Given the description of an element on the screen output the (x, y) to click on. 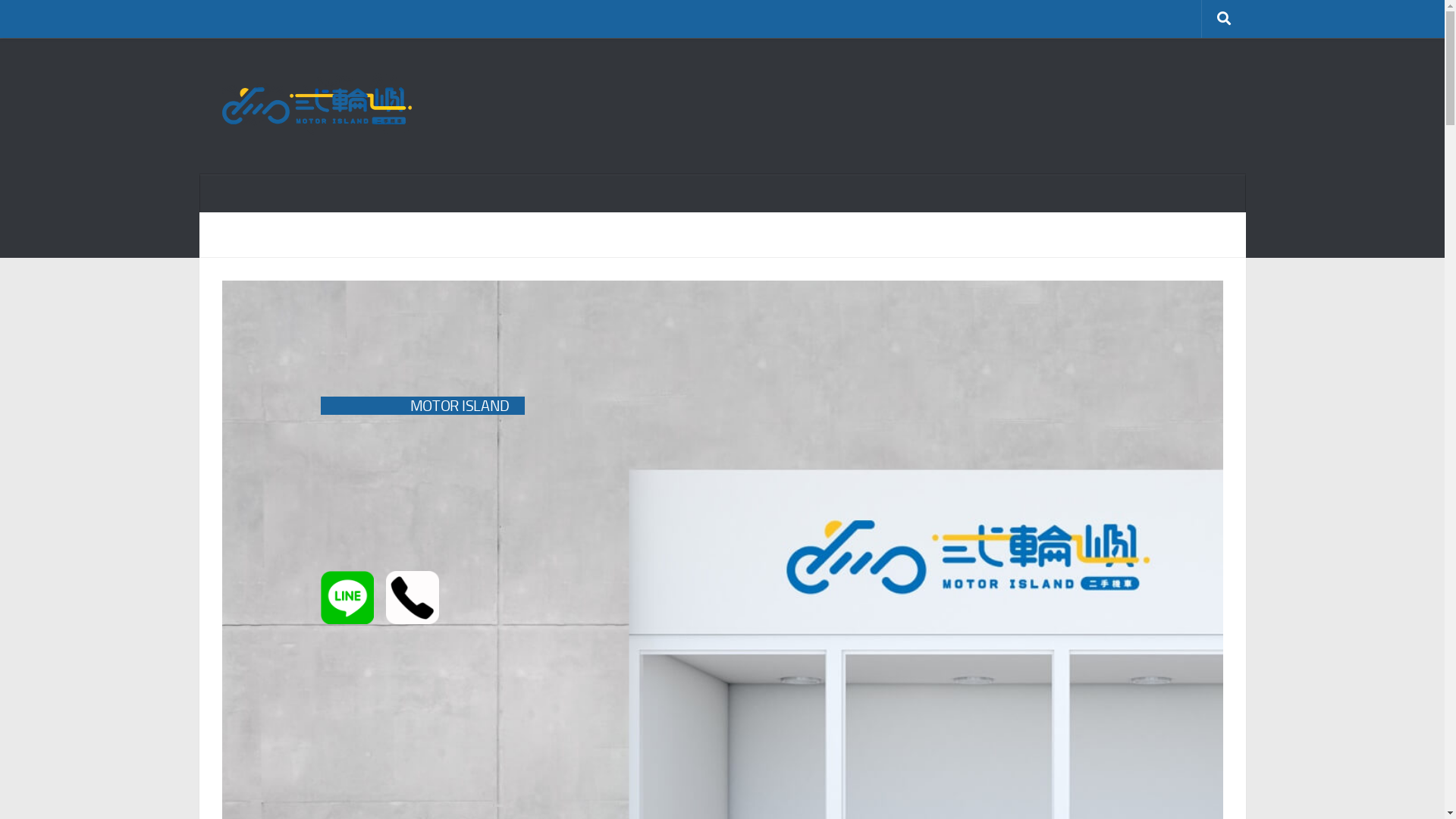
Skip to content Element type: text (60, 21)
